Given the description of an element on the screen output the (x, y) to click on. 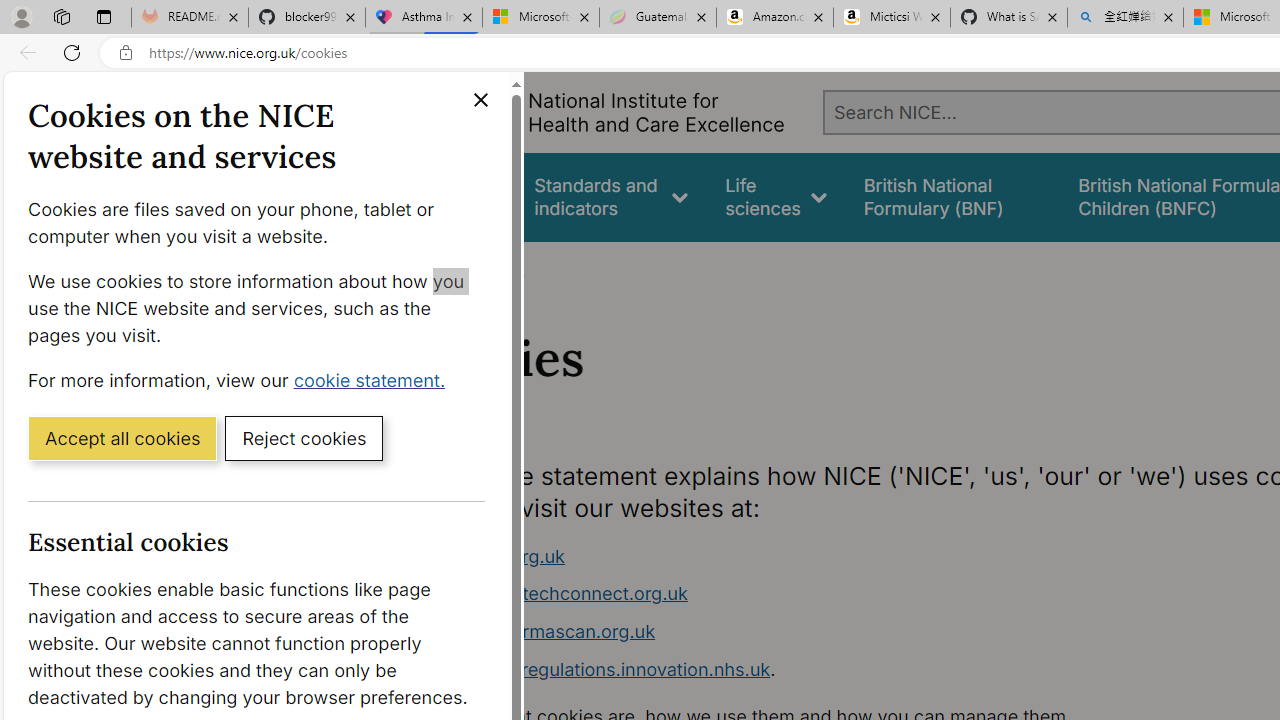
www.healthtechconnect.org.uk (554, 593)
www.digitalregulations.innovation.nhs.uk (595, 668)
Workspaces (61, 16)
Life sciences (776, 196)
Guidance (458, 196)
www.ukpharmascan.org.uk (796, 632)
Life sciences (776, 196)
Home (424, 268)
www.healthtechconnect.org.uk (796, 594)
About (498, 268)
